Given the description of an element on the screen output the (x, y) to click on. 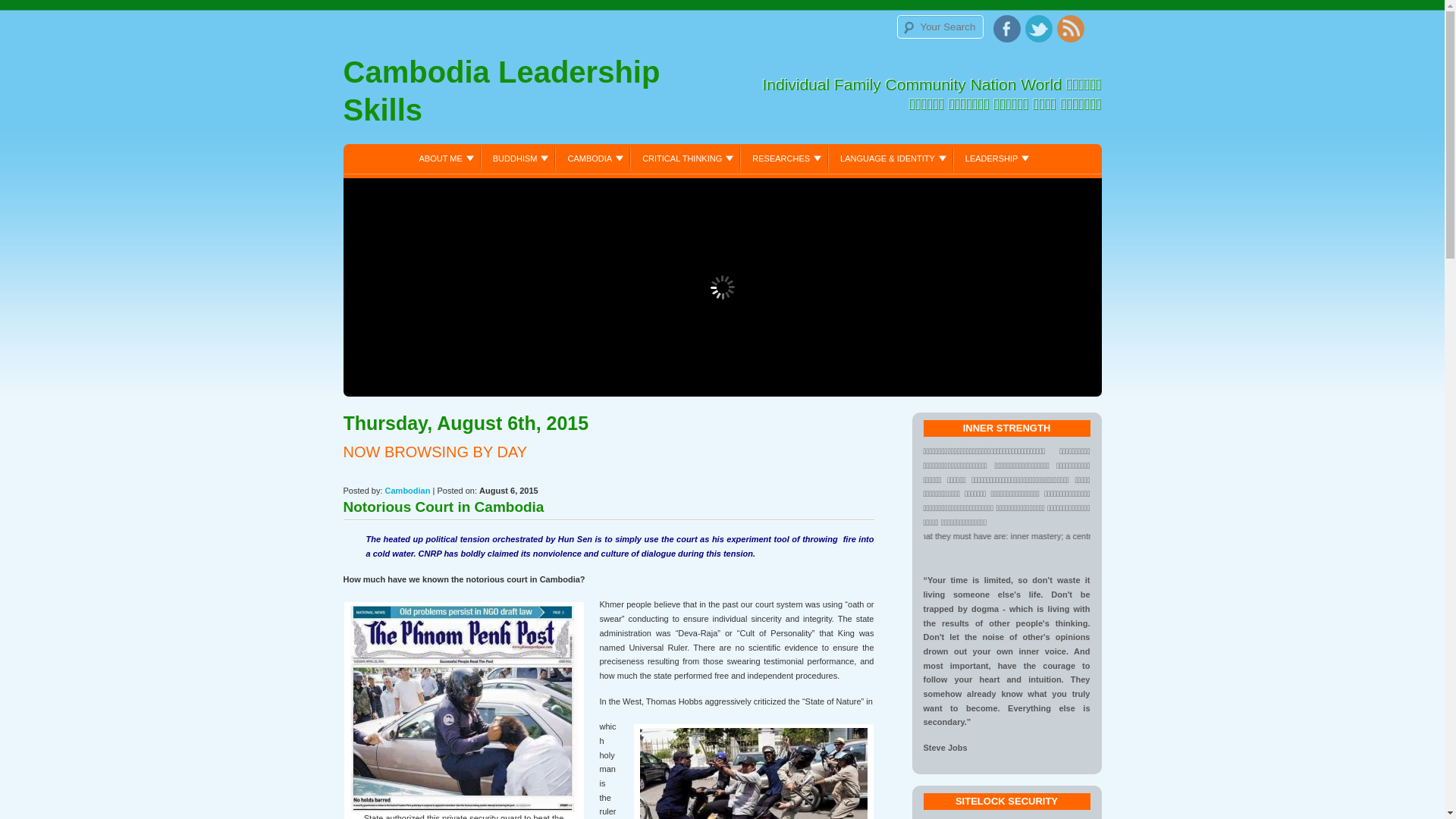
Search (29, 13)
CAMBODIA (593, 158)
BUDDHISM (518, 158)
ABOUT ME (444, 158)
CRITICAL THINKING (685, 158)
Cambodia Leadership Skills (532, 94)
Posts by Cambodian (407, 490)
